Given the description of an element on the screen output the (x, y) to click on. 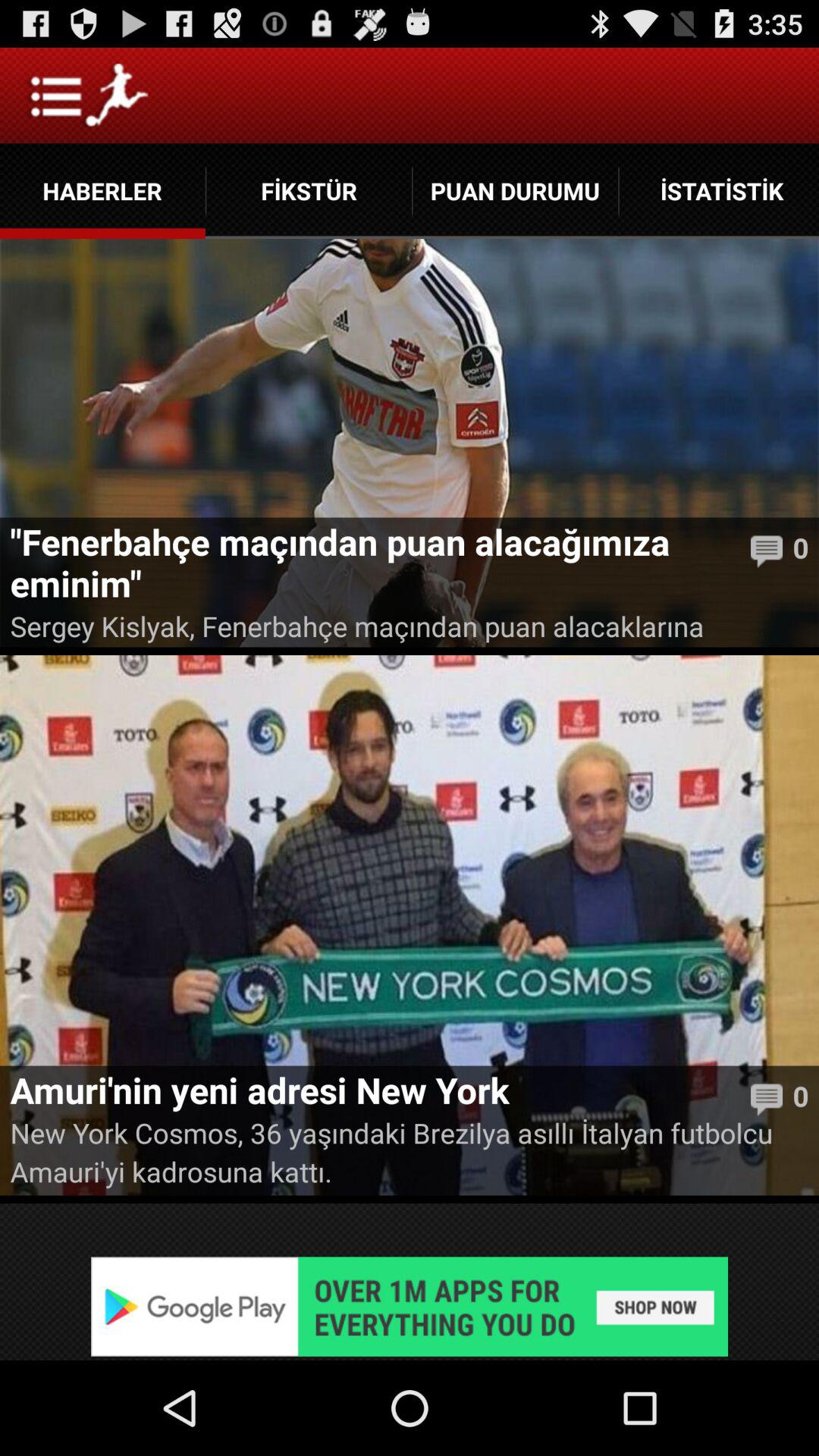
select the haberler app (102, 190)
